Given the description of an element on the screen output the (x, y) to click on. 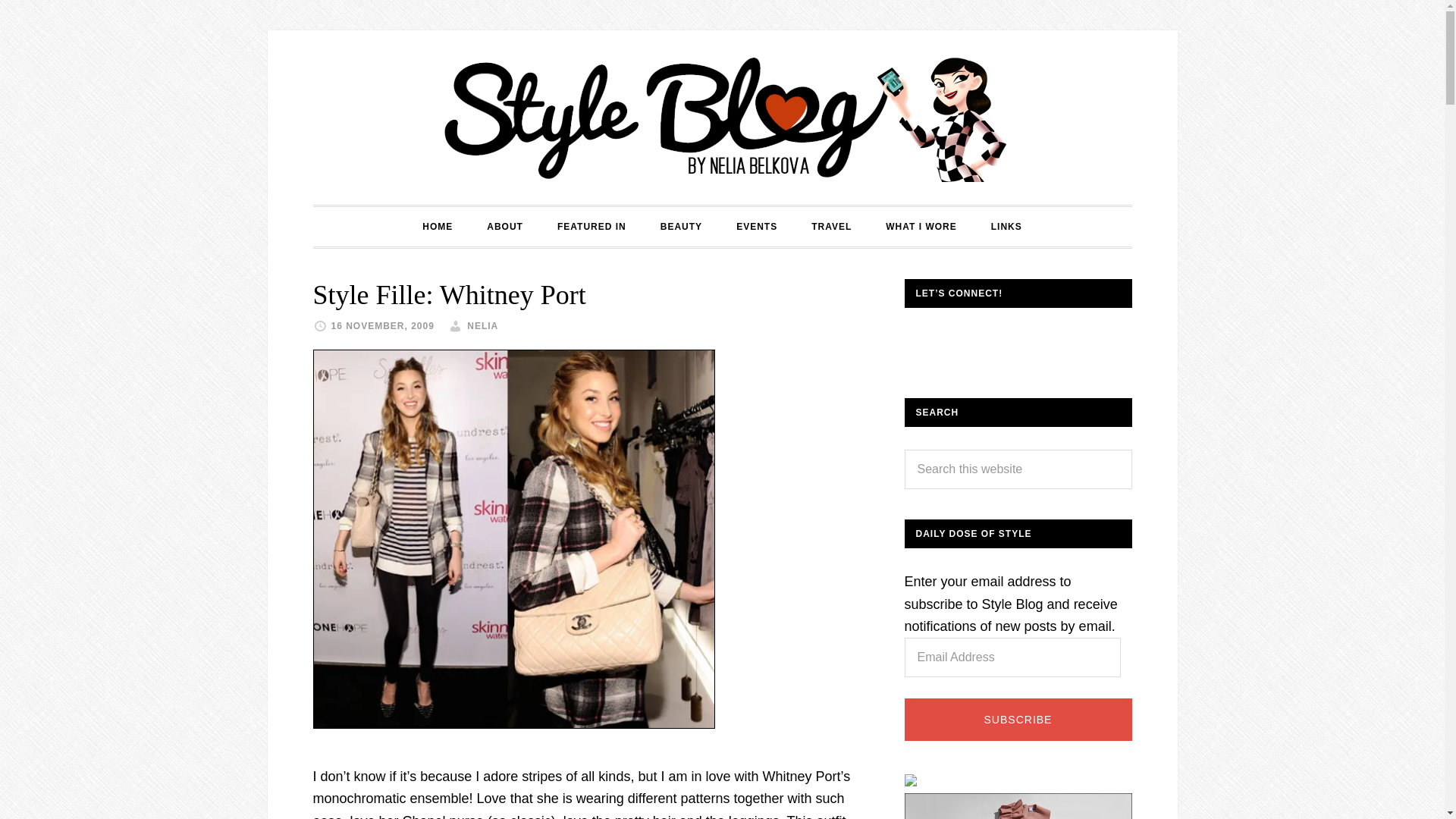
TRAVEL (831, 226)
ABOUT (504, 226)
HOME (437, 226)
NELIA (482, 326)
SUBSCRIBE (1017, 719)
FEATURED IN (591, 226)
WHAT I WORE (920, 226)
LINKS (1005, 226)
